Given the description of an element on the screen output the (x, y) to click on. 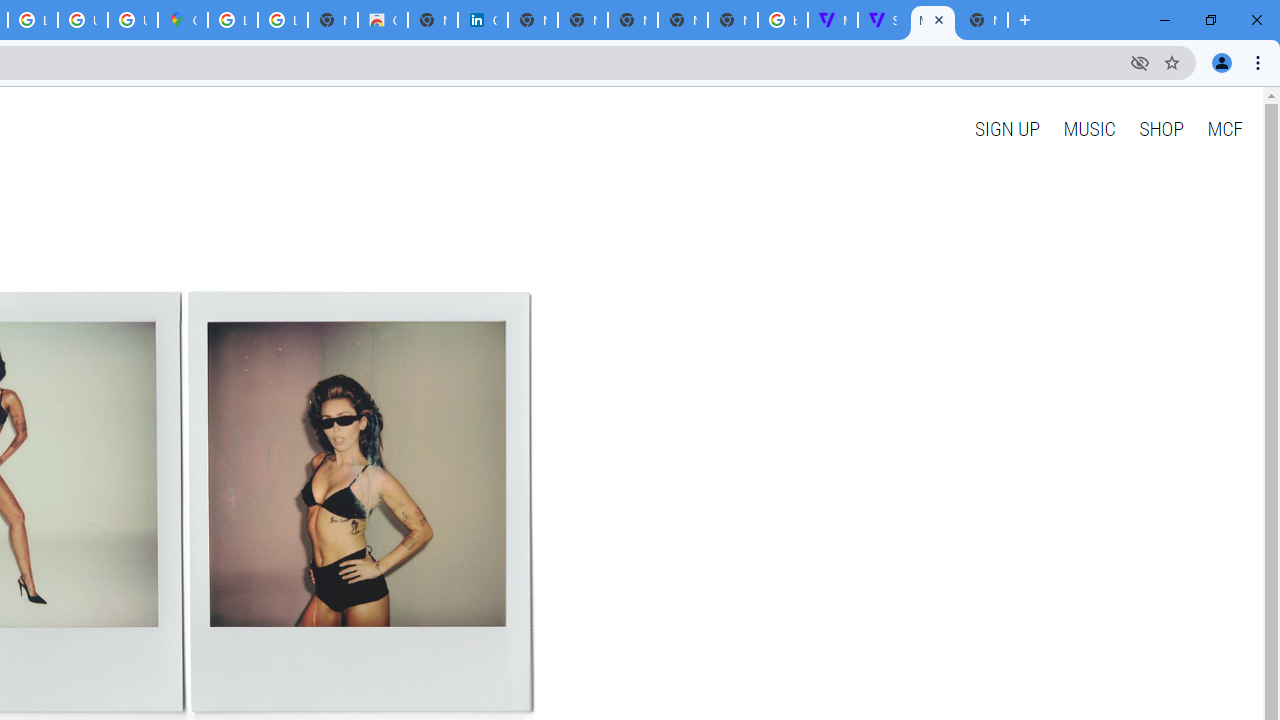
New Tab (982, 20)
SIGN UP (1006, 128)
Google Maps (182, 20)
Chrome Web Store (383, 20)
Streaming - The Verge (882, 20)
